Given the description of an element on the screen output the (x, y) to click on. 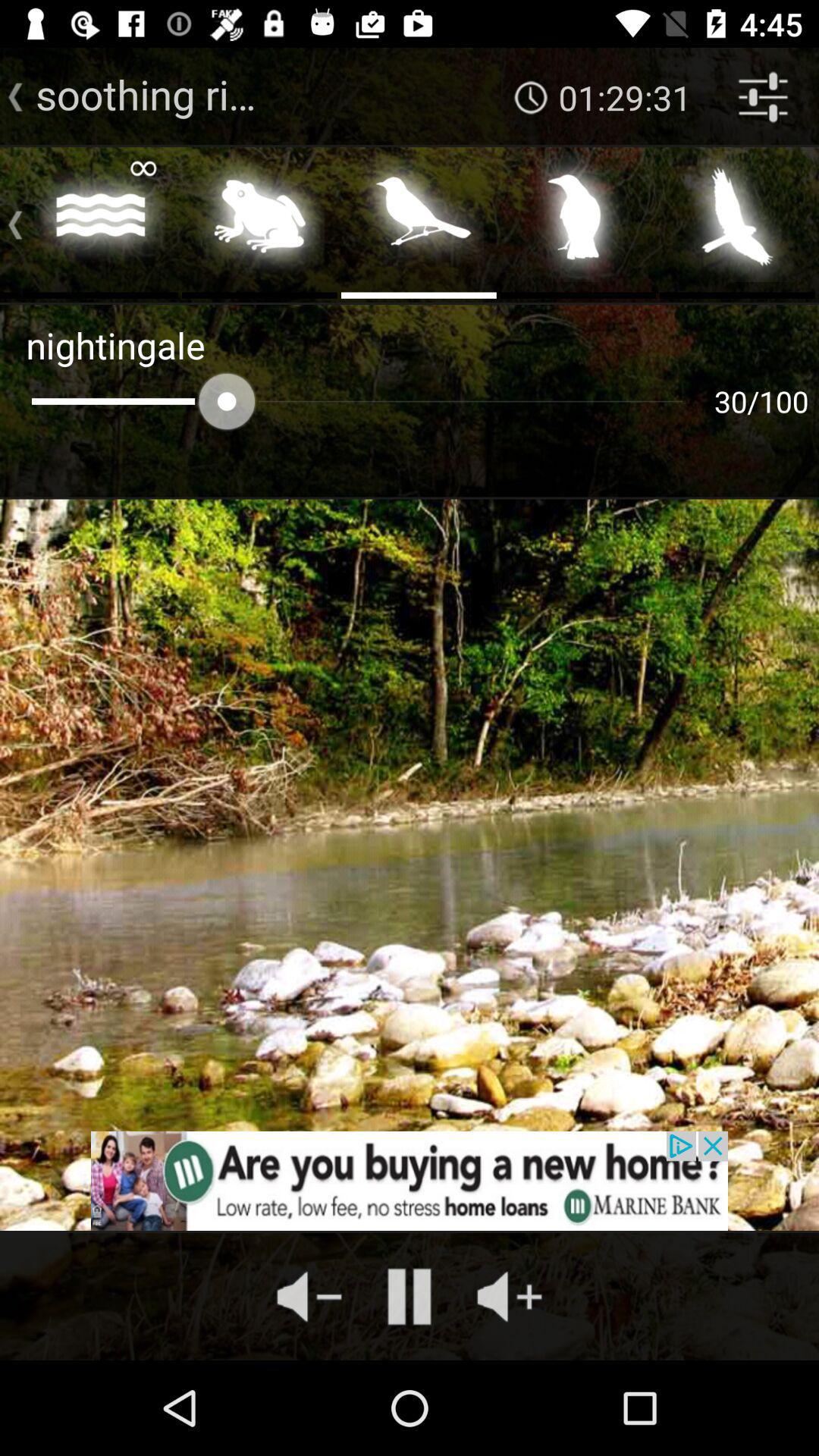
change sounds (577, 221)
